Given the description of an element on the screen output the (x, y) to click on. 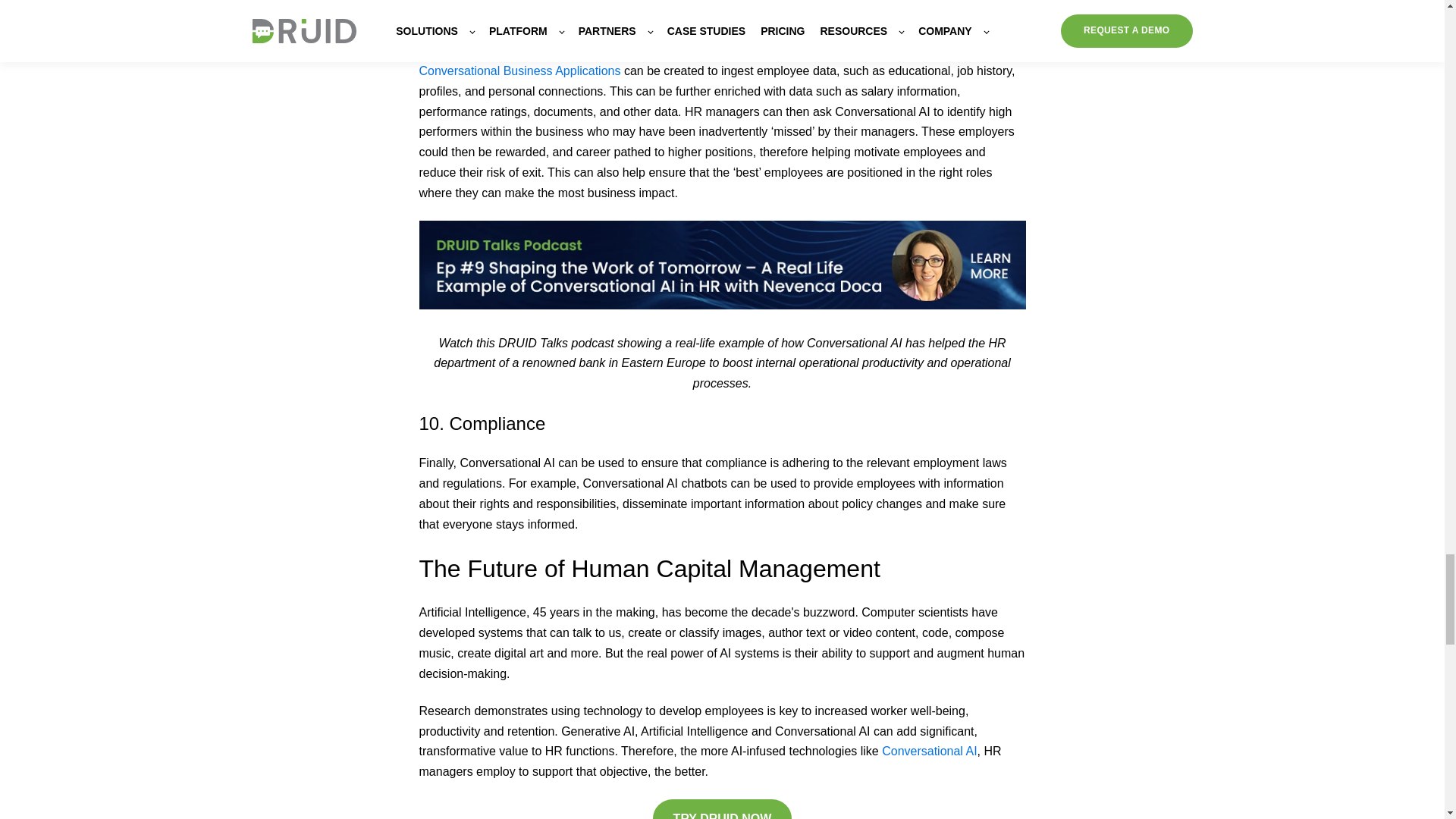
TRY DRUID NOW (722, 809)
